Given the description of an element on the screen output the (x, y) to click on. 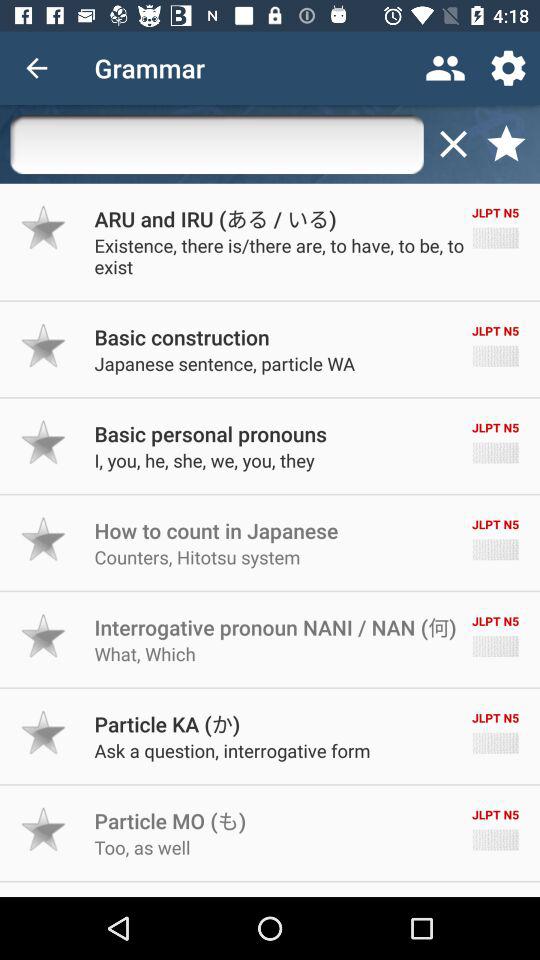
bookmark this (44, 732)
